Given the description of an element on the screen output the (x, y) to click on. 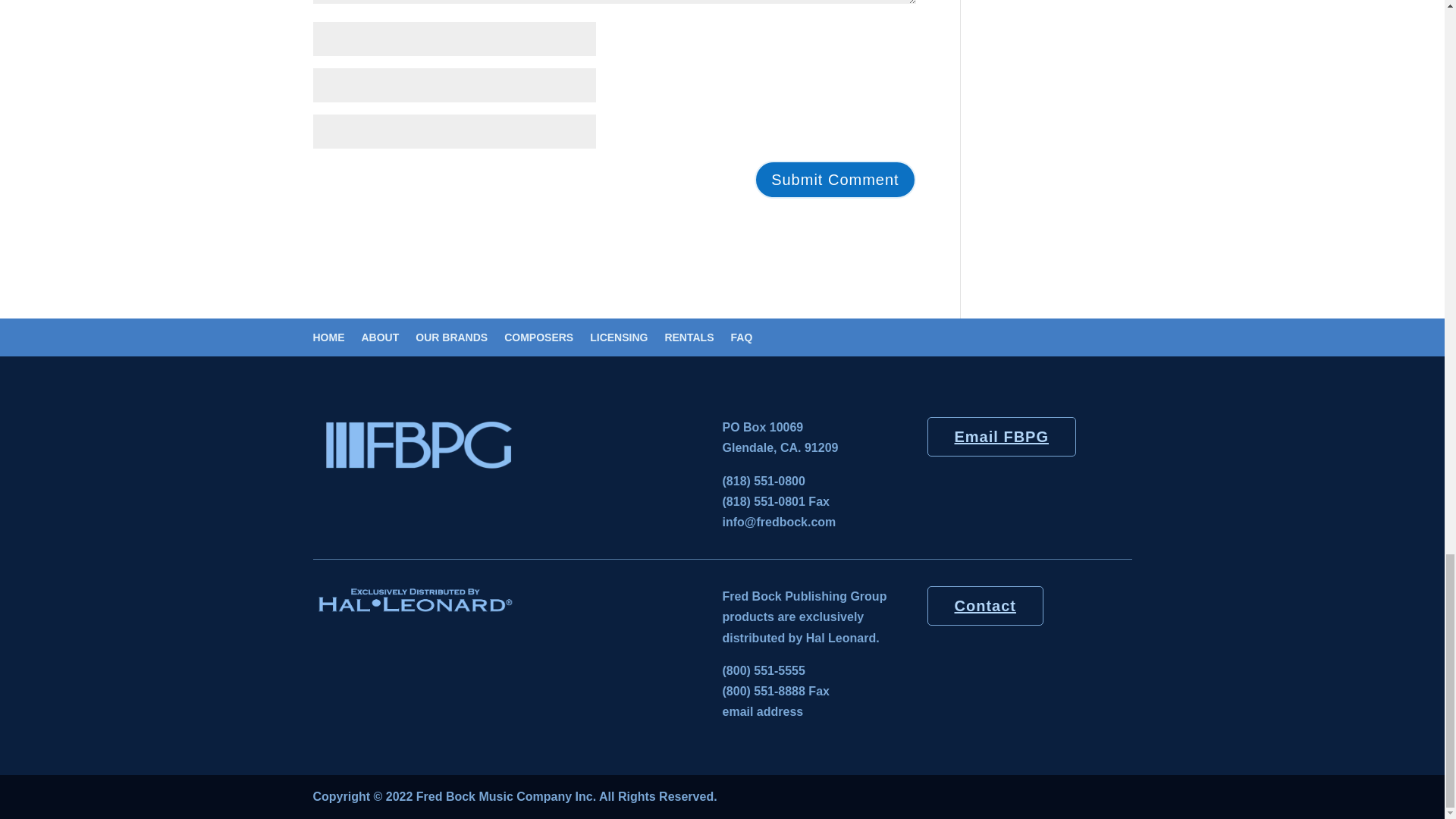
Submit Comment (834, 179)
FBPG-Initials (517, 443)
Submit Comment (834, 179)
Hal-Leonard (414, 599)
